Given the description of an element on the screen output the (x, y) to click on. 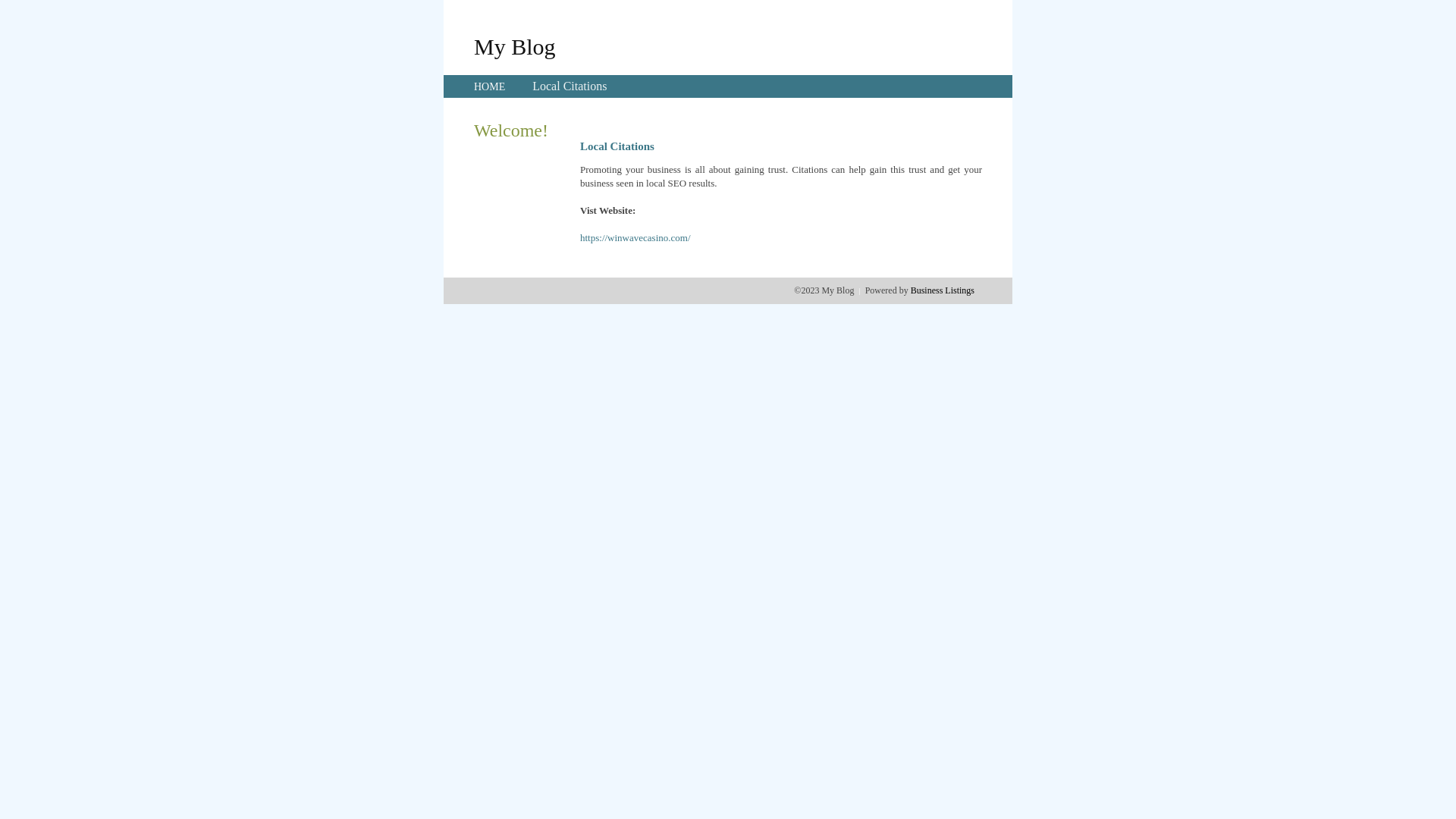
HOME Element type: text (489, 86)
Local Citations Element type: text (569, 85)
Business Listings Element type: text (942, 290)
My Blog Element type: text (514, 46)
https://winwavecasino.com/ Element type: text (635, 237)
